Given the description of an element on the screen output the (x, y) to click on. 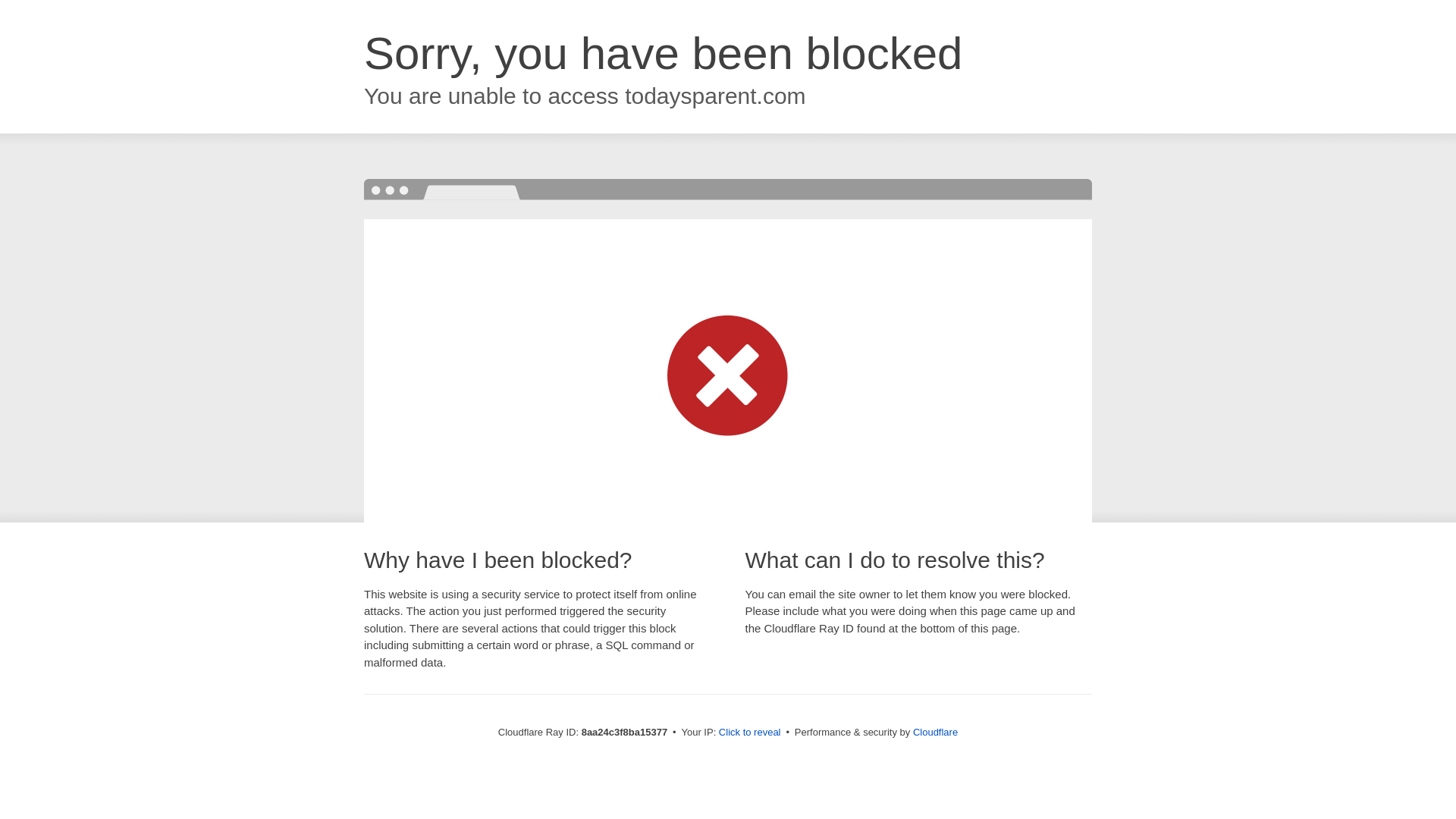
Click to reveal (749, 732)
Cloudflare (935, 731)
